Given the description of an element on the screen output the (x, y) to click on. 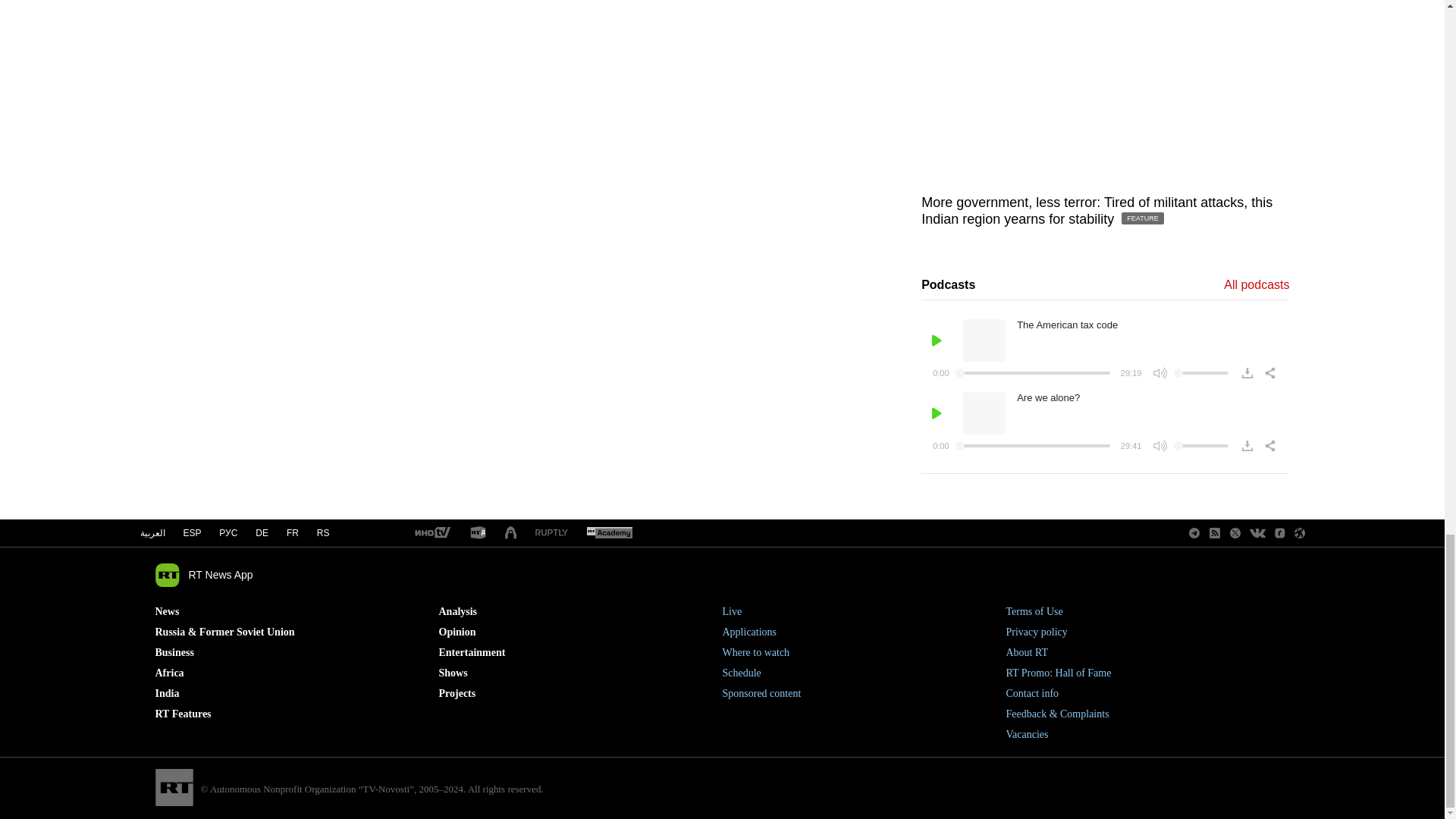
RT  (431, 533)
RT  (478, 533)
RT  (608, 533)
RT  (551, 533)
